Given the description of an element on the screen output the (x, y) to click on. 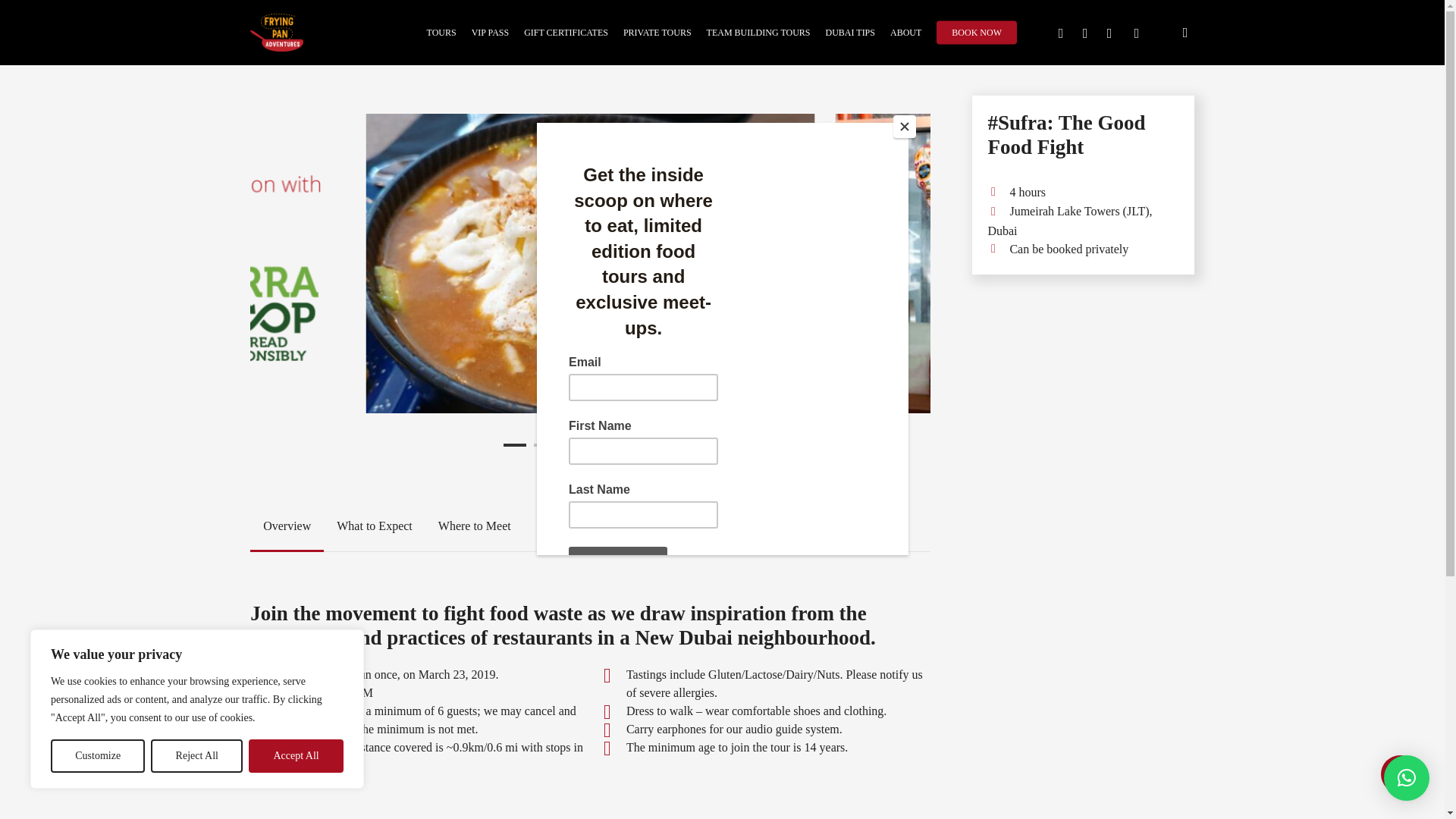
instagram (1109, 32)
BOOK NOW (976, 32)
search (1184, 32)
image (173, 263)
GIFT CERTIFICATES (565, 32)
TOURS (441, 32)
What to Expect (374, 526)
phone (1136, 32)
twitter (1060, 32)
PRIVATE TOURS (656, 32)
TEAM BUILDING TOURS (758, 32)
Accept All (295, 756)
Customize (97, 756)
Where to Meet (474, 526)
FAQ (548, 526)
